Given the description of an element on the screen output the (x, y) to click on. 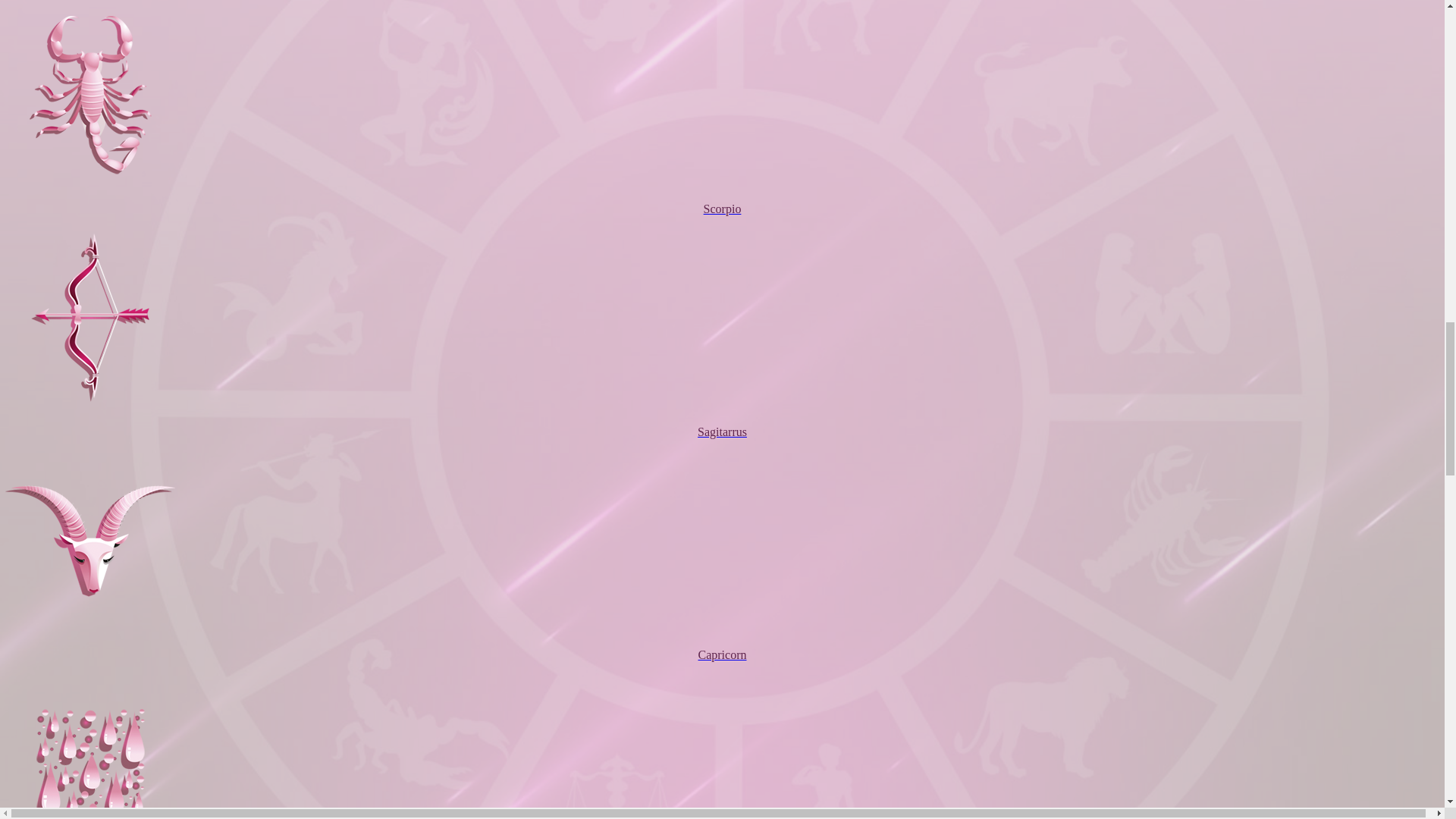
Sagitarrus (722, 418)
Scorpio (722, 195)
Capricorn (722, 640)
